Given the description of an element on the screen output the (x, y) to click on. 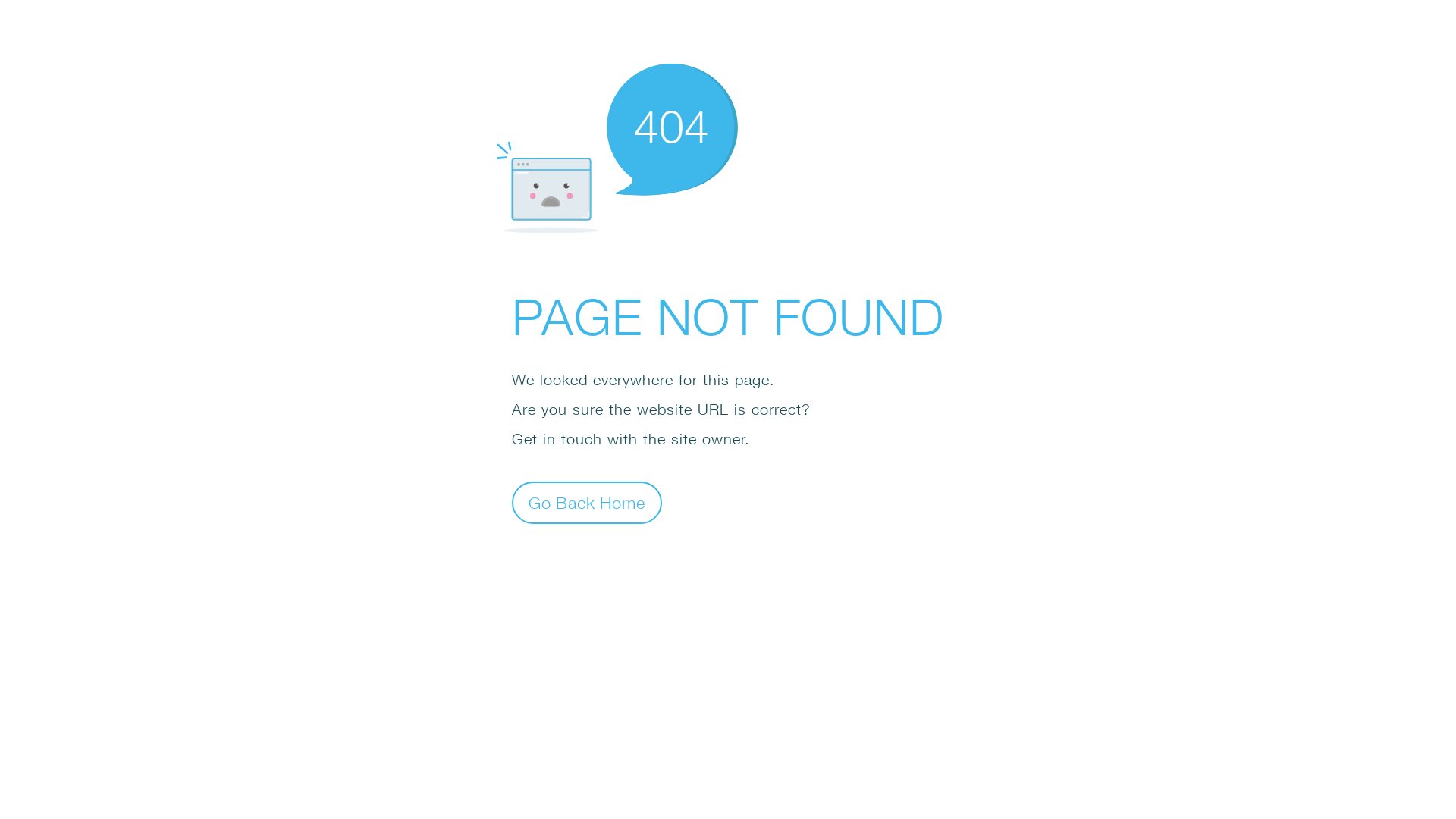
Go Back Home Element type: text (586, 502)
